Given the description of an element on the screen output the (x, y) to click on. 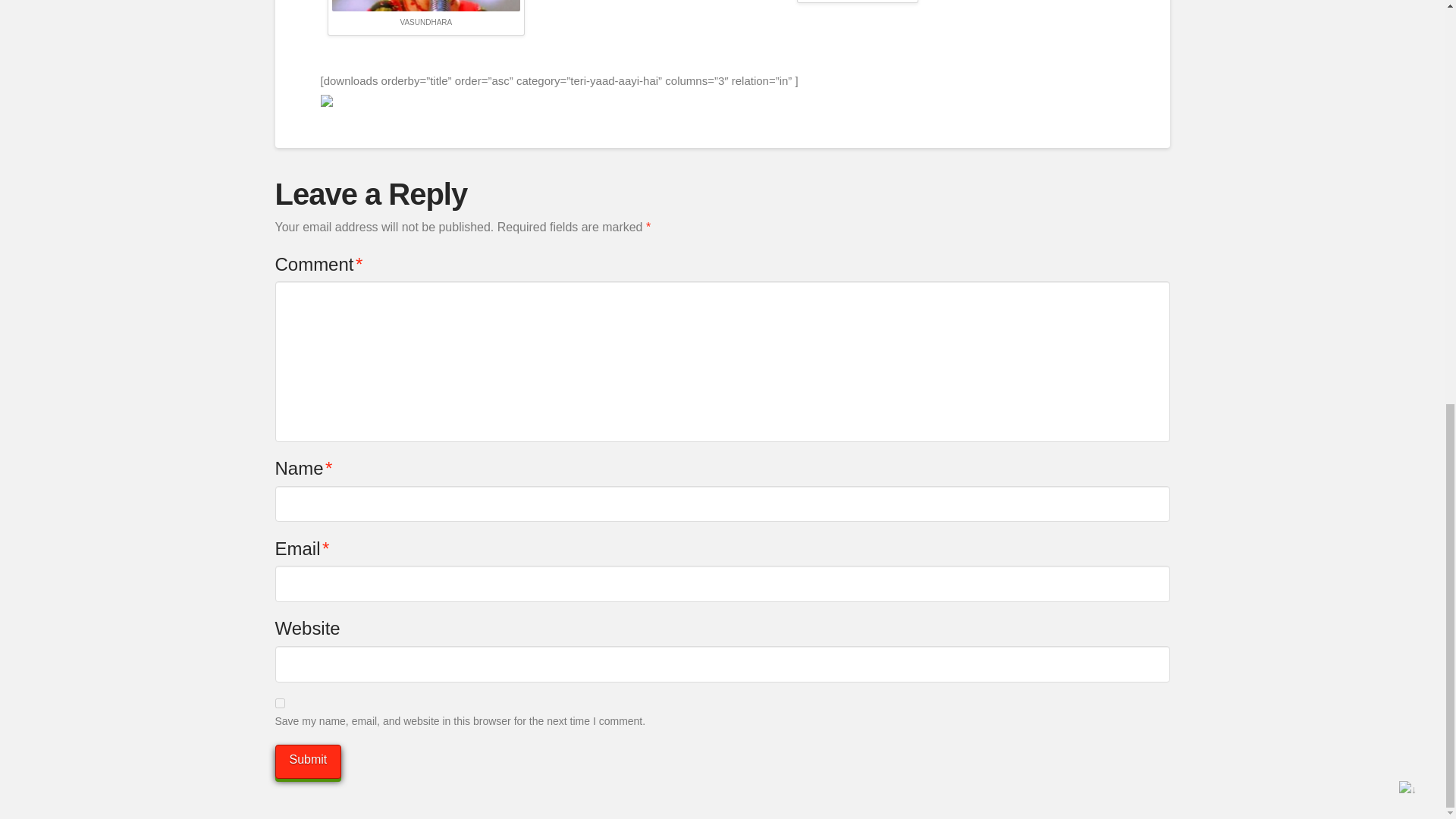
yes (279, 703)
Submit (307, 761)
Submit (307, 761)
